Given the description of an element on the screen output the (x, y) to click on. 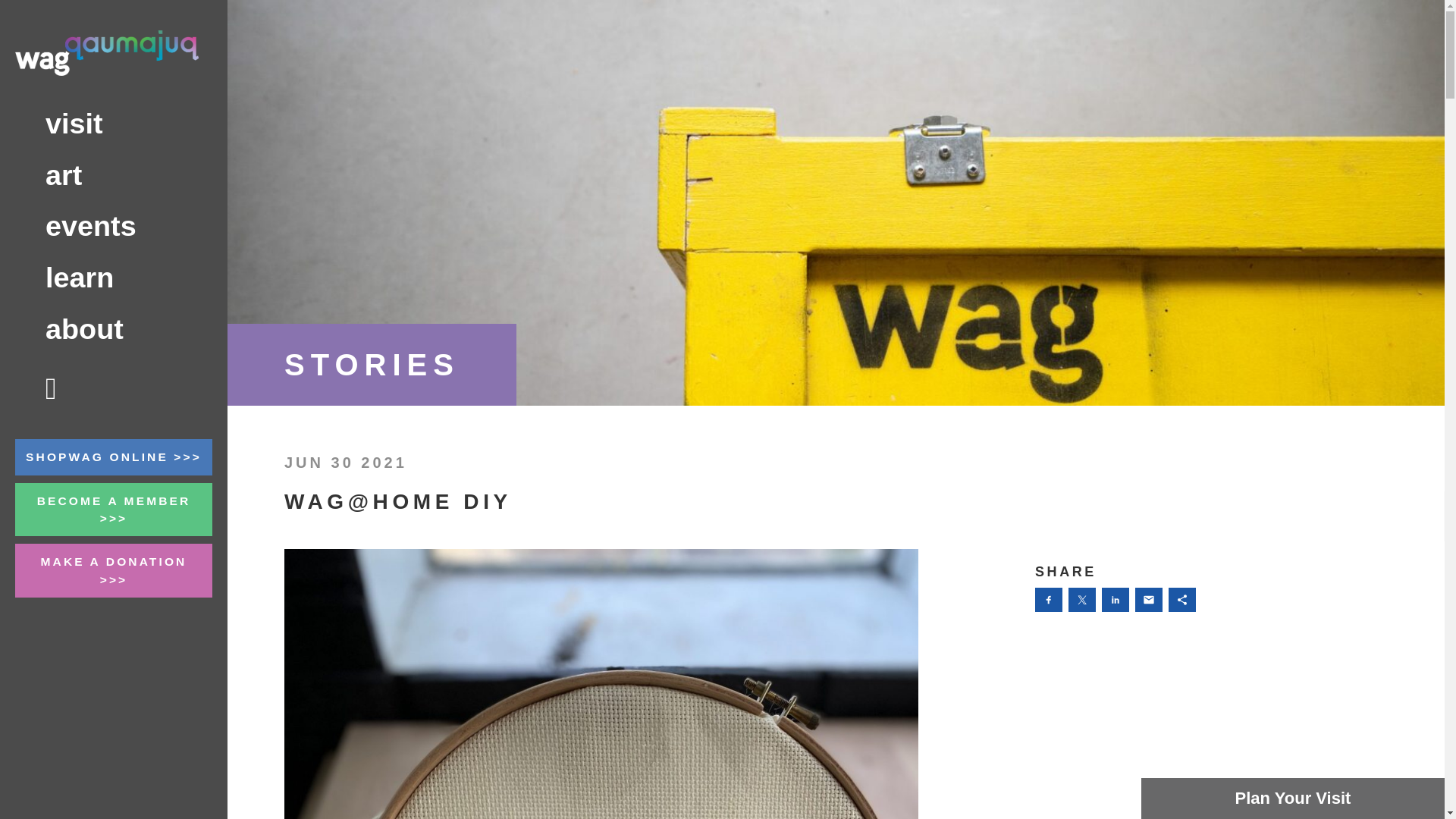
learn (113, 277)
art (113, 175)
visit (113, 123)
events (113, 226)
about (113, 329)
